Given the description of an element on the screen output the (x, y) to click on. 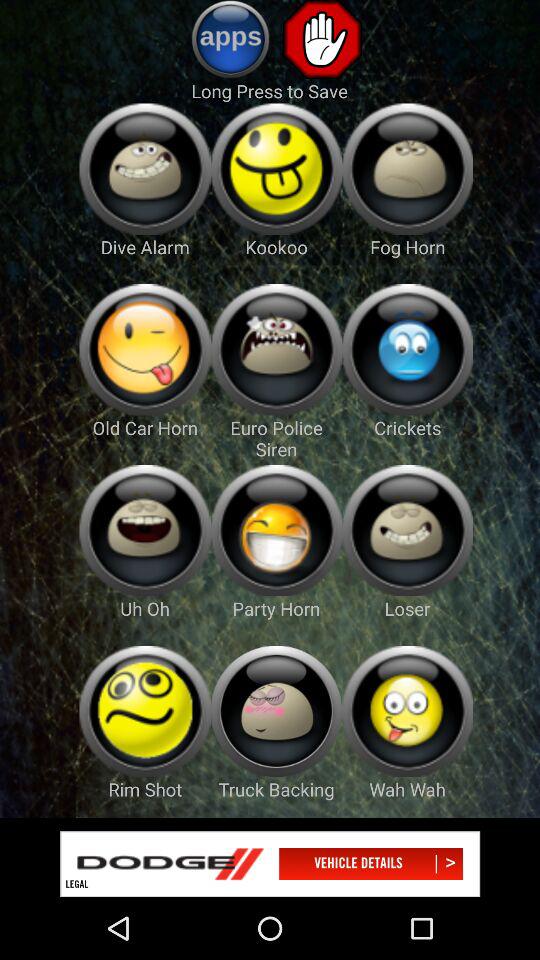
play foghorn ringtone (407, 168)
